Given the description of an element on the screen output the (x, y) to click on. 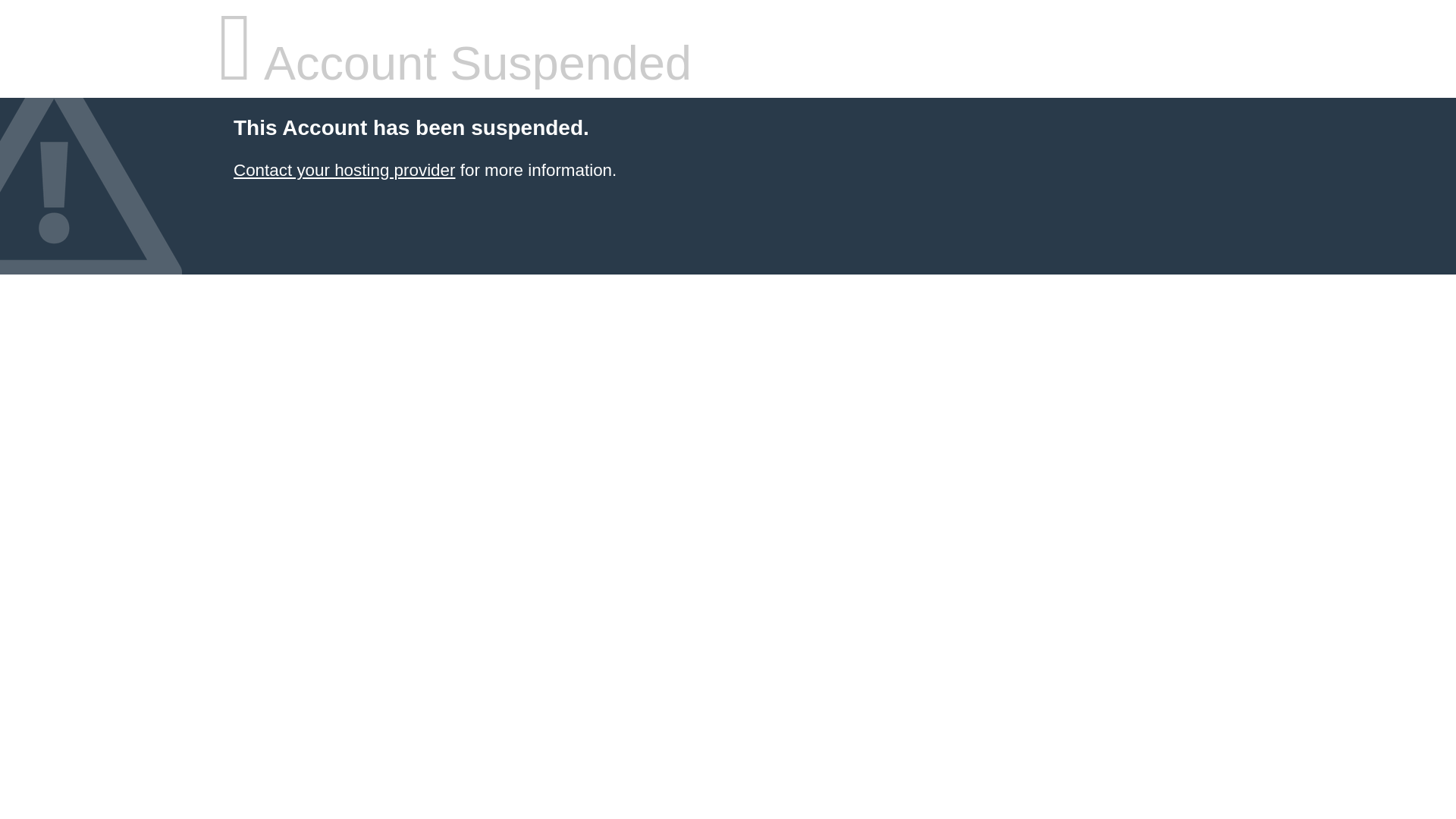
Contact your hosting provider (343, 169)
